Given the description of an element on the screen output the (x, y) to click on. 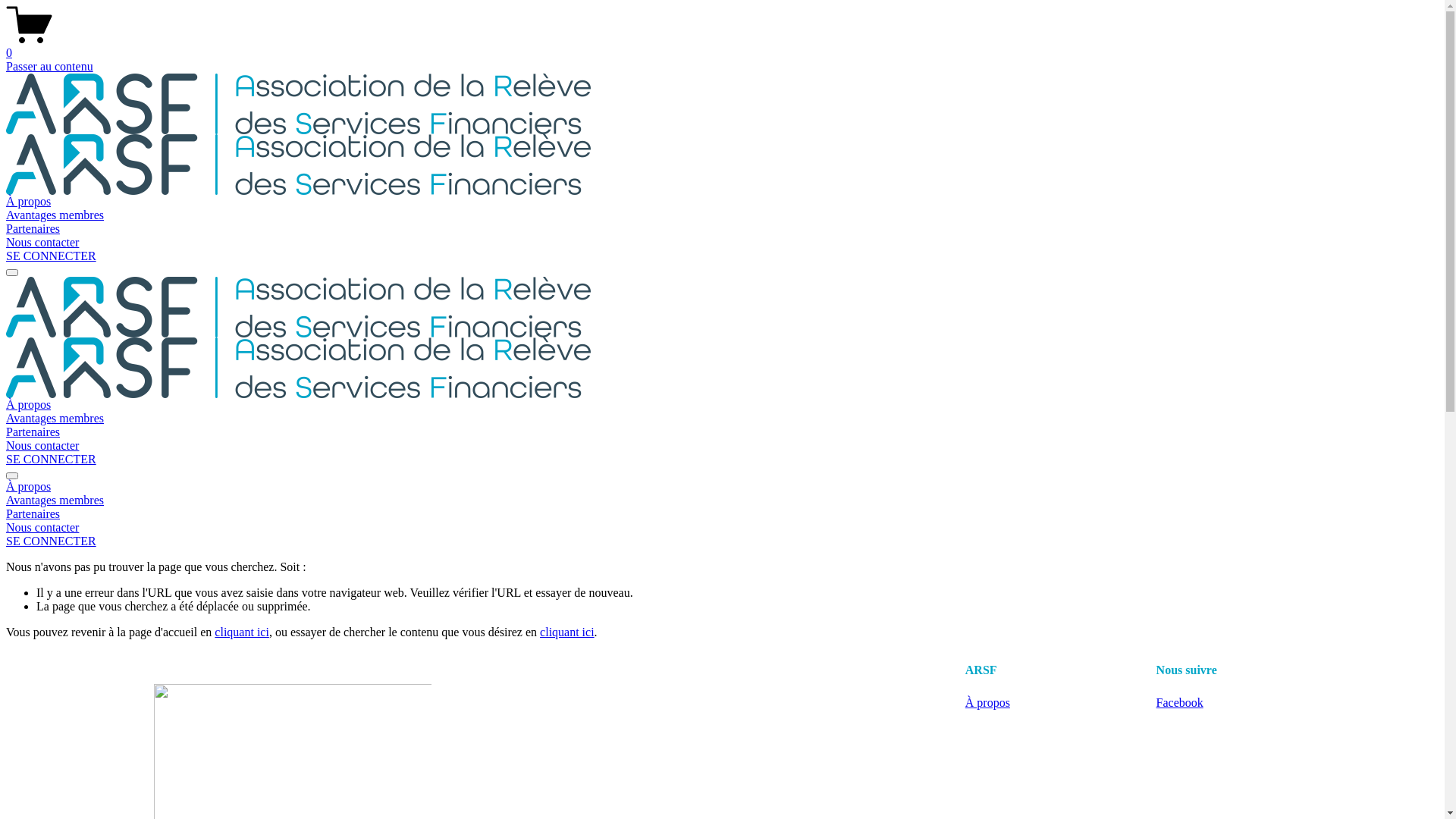
Nous contacter Element type: text (42, 445)
Partenaires Element type: text (32, 431)
cliquant ici Element type: text (241, 631)
SE CONNECTER Element type: text (51, 458)
Nous contacter Element type: text (42, 241)
Avantages membres Element type: text (54, 214)
Partenaires Element type: text (32, 228)
Facebook Element type: text (1179, 702)
0 Element type: text (722, 45)
Passer au contenu Element type: text (49, 65)
cliquant ici Element type: text (566, 631)
Avantages membres Element type: text (54, 417)
Nous contacter Element type: text (722, 527)
Avantages membres Element type: text (722, 500)
Partenaires Element type: text (722, 513)
SE CONNECTER Element type: text (51, 255)
SE CONNECTER Element type: text (51, 540)
